Given the description of an element on the screen output the (x, y) to click on. 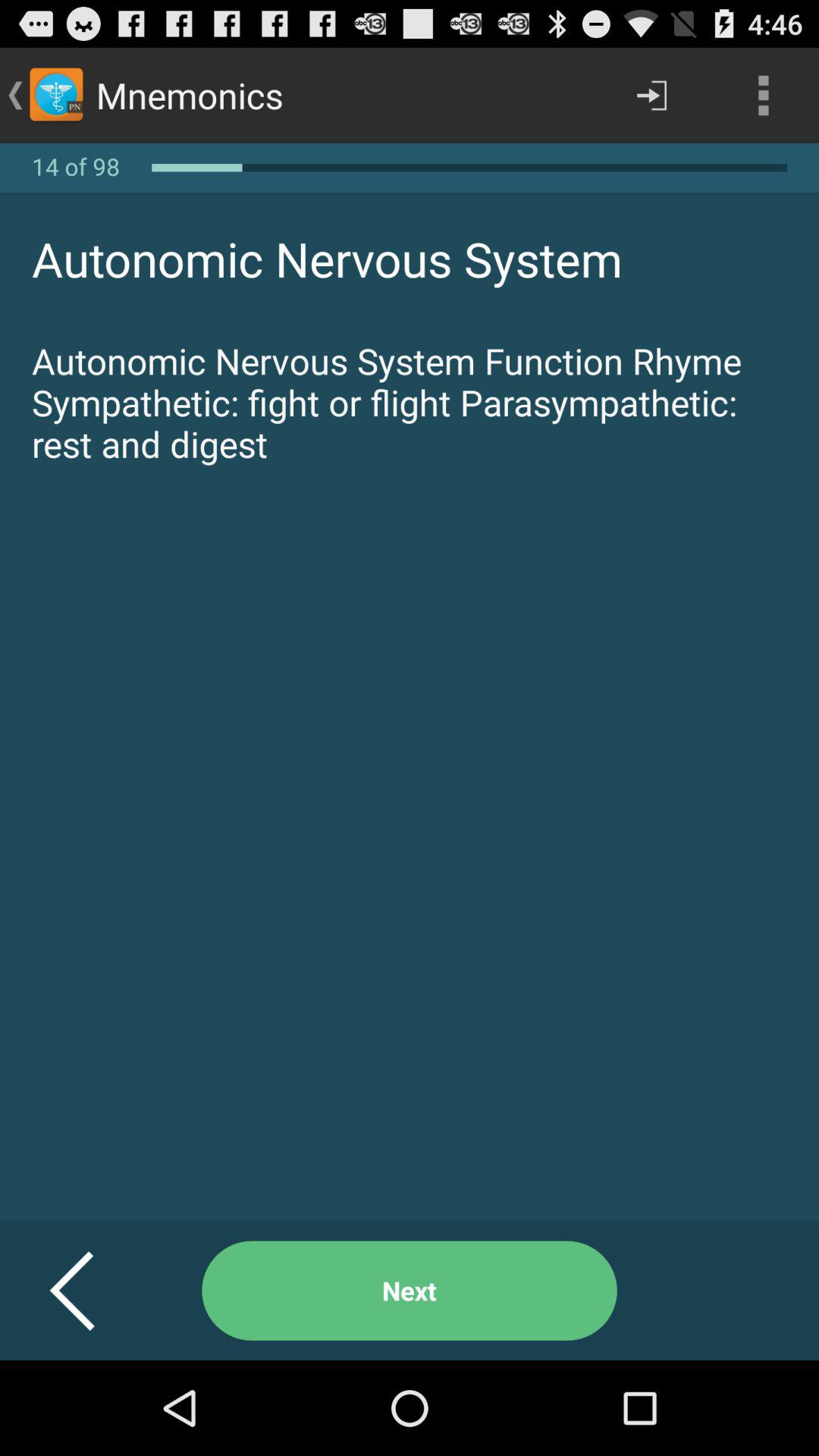
go back (91, 1290)
